Given the description of an element on the screen output the (x, y) to click on. 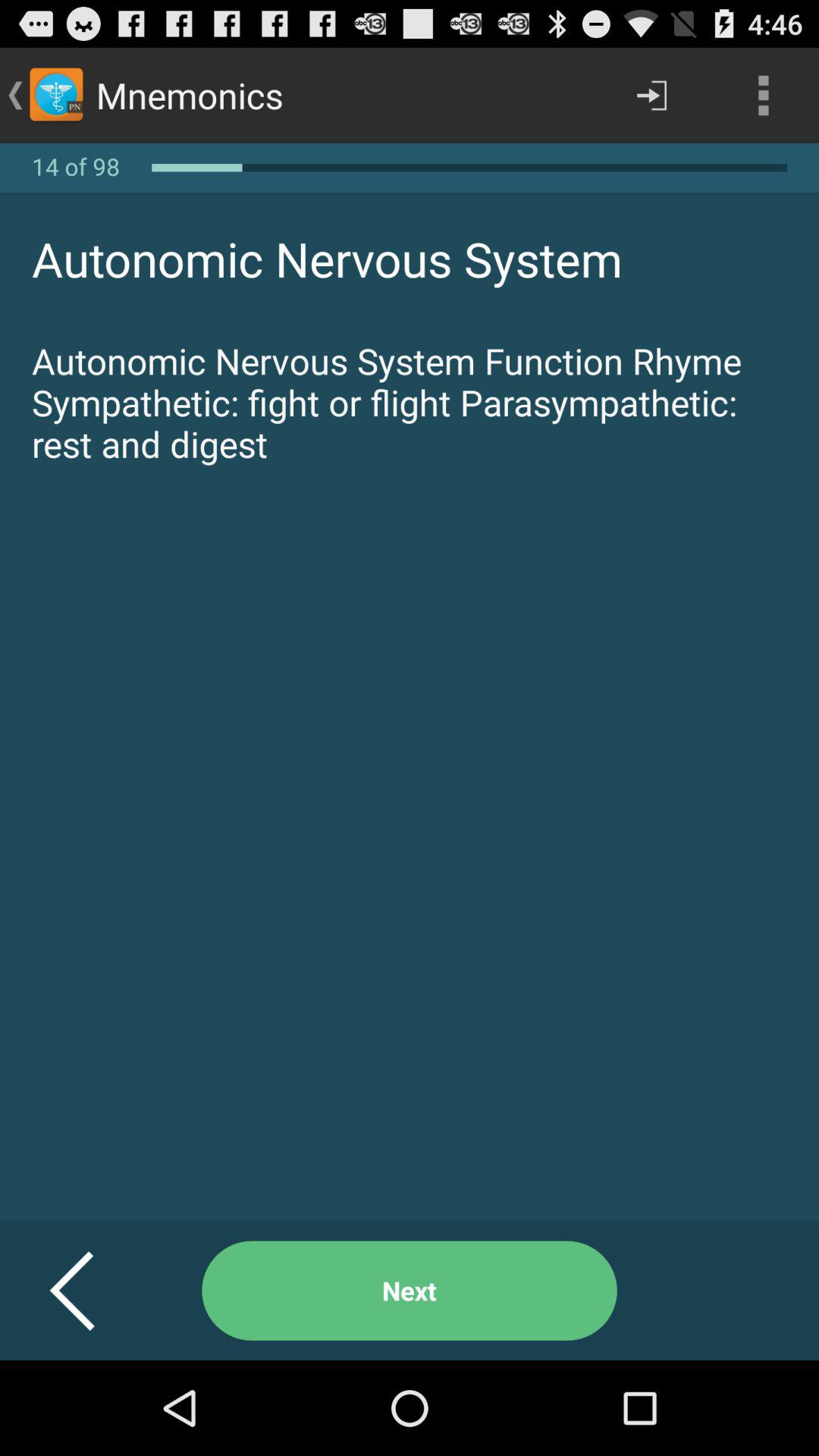
go back (91, 1290)
